Given the description of an element on the screen output the (x, y) to click on. 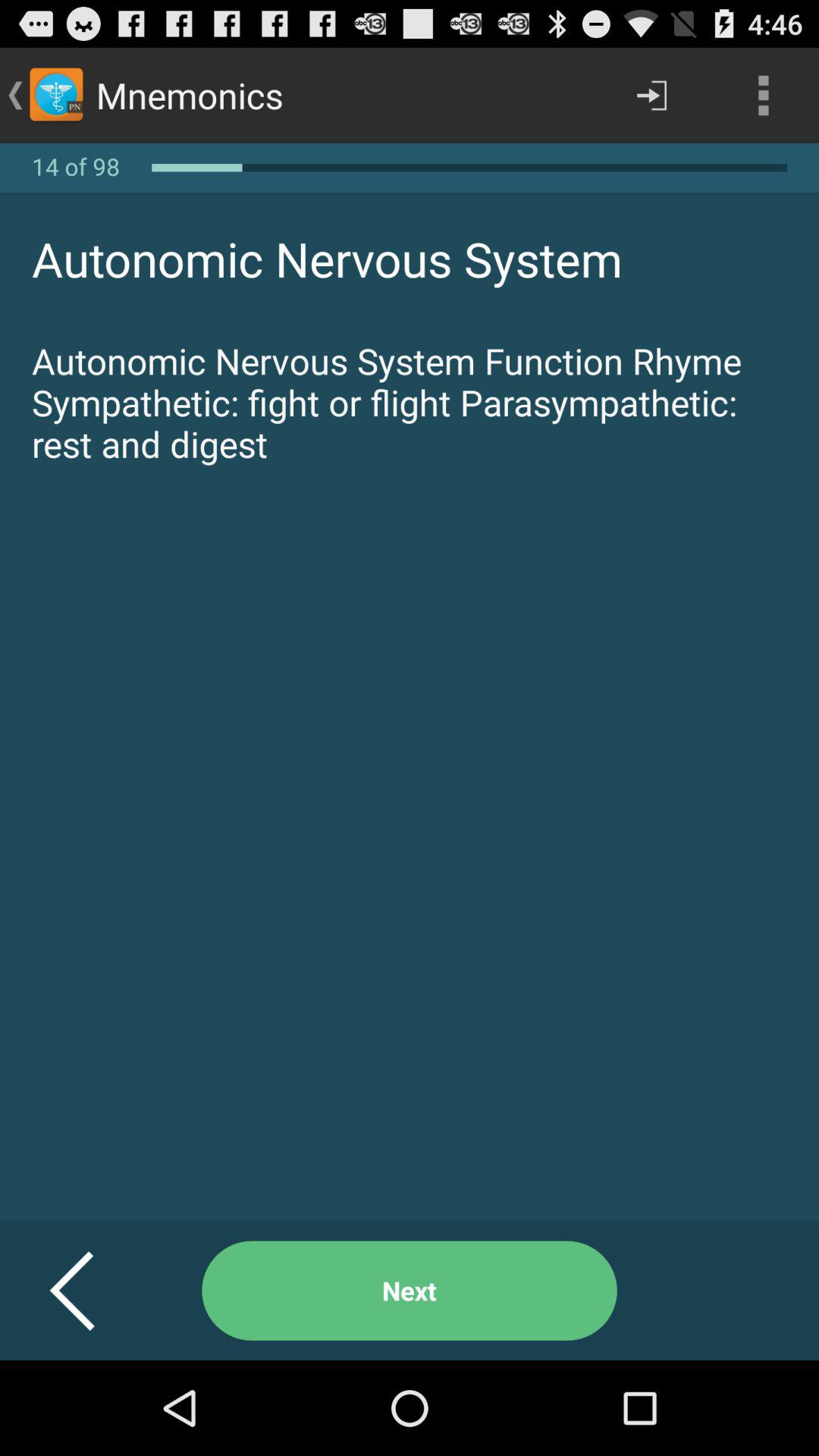
go back (91, 1290)
